Given the description of an element on the screen output the (x, y) to click on. 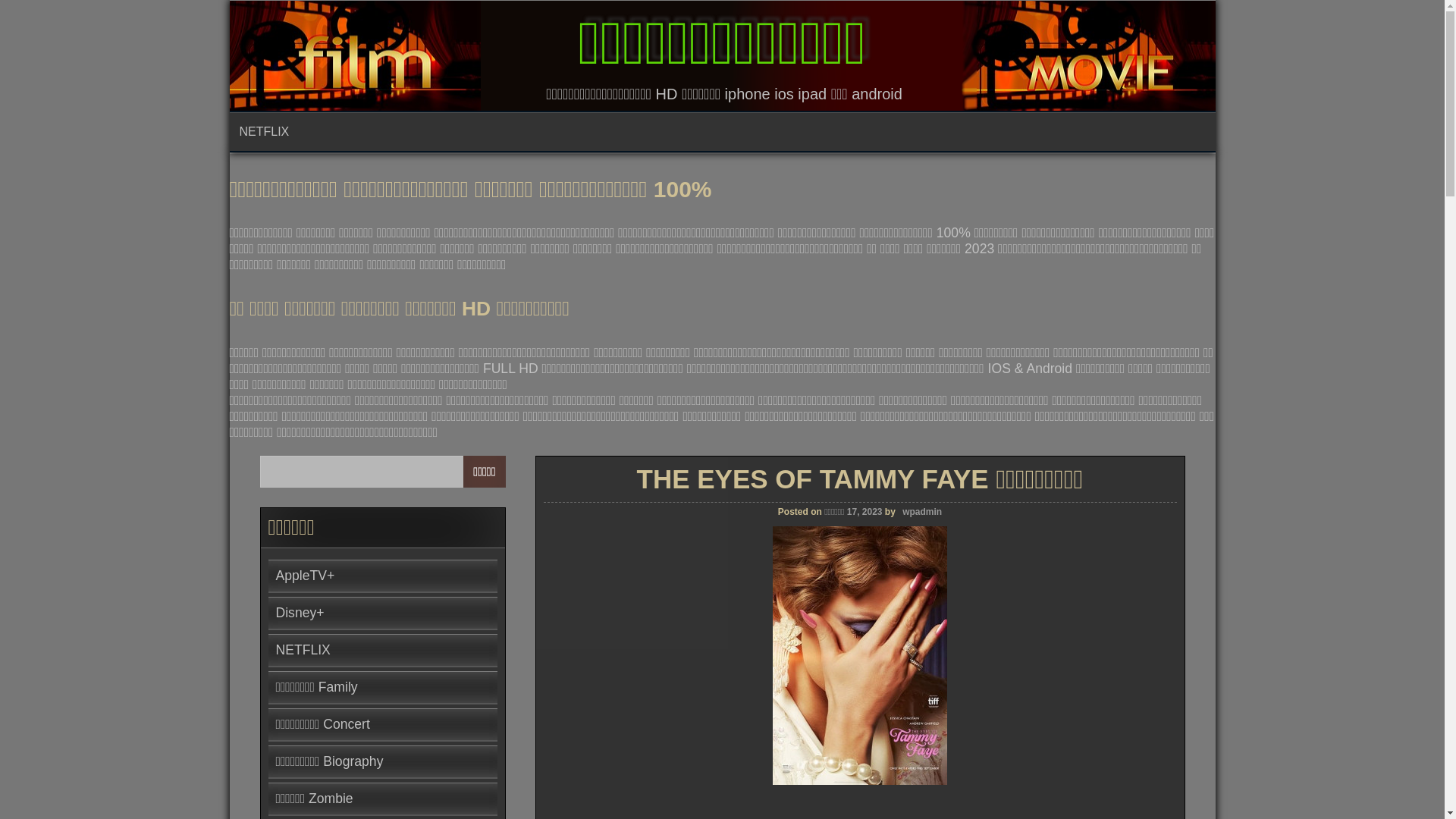
Disney+ Element type: text (300, 612)
wpadmin Element type: text (921, 511)
NETFLIX Element type: text (267, 131)
AppleTV+ Element type: text (305, 575)
NETFLIX Element type: text (303, 649)
